Given the description of an element on the screen output the (x, y) to click on. 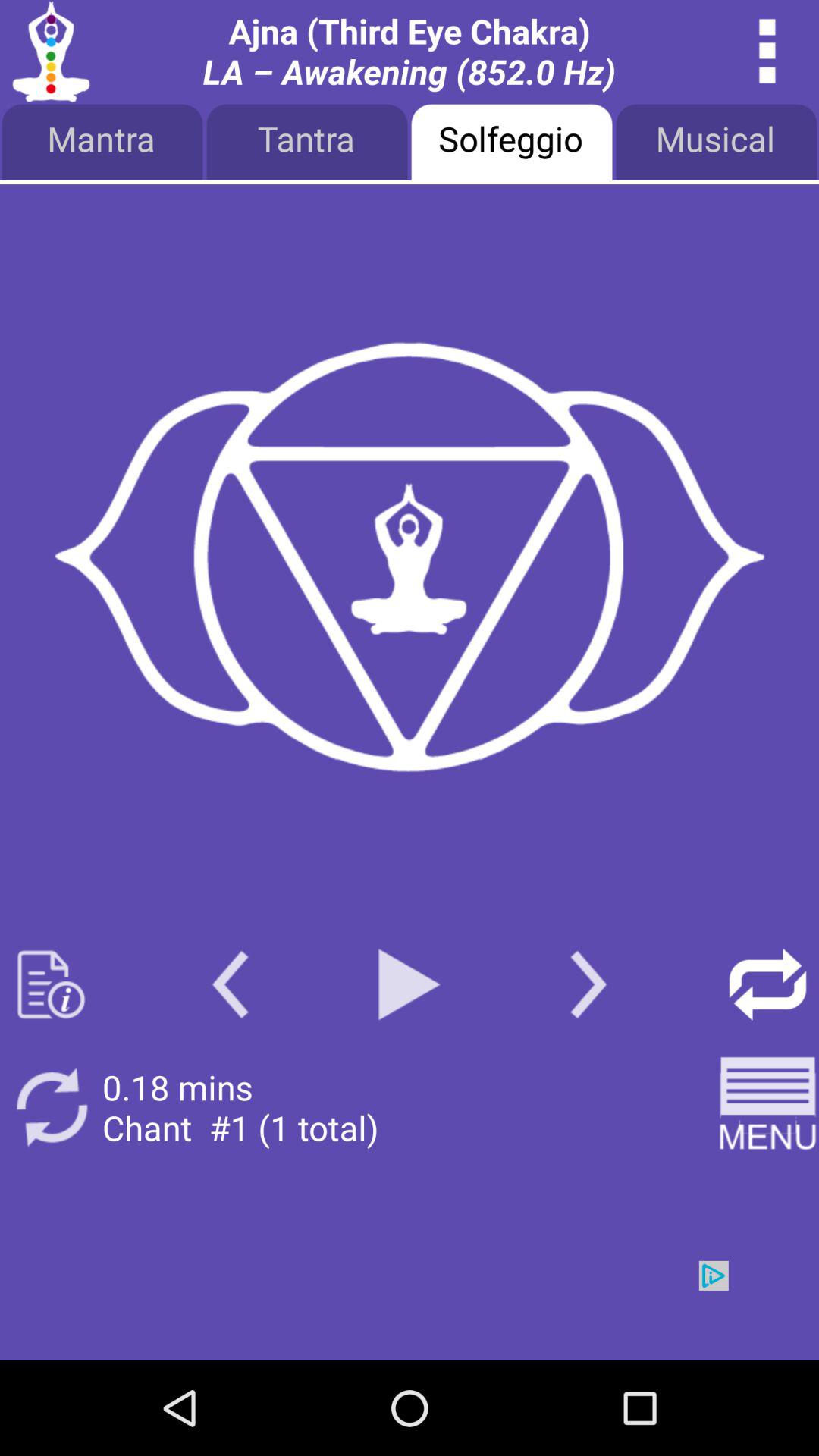
open documents (51, 984)
